Given the description of an element on the screen output the (x, y) to click on. 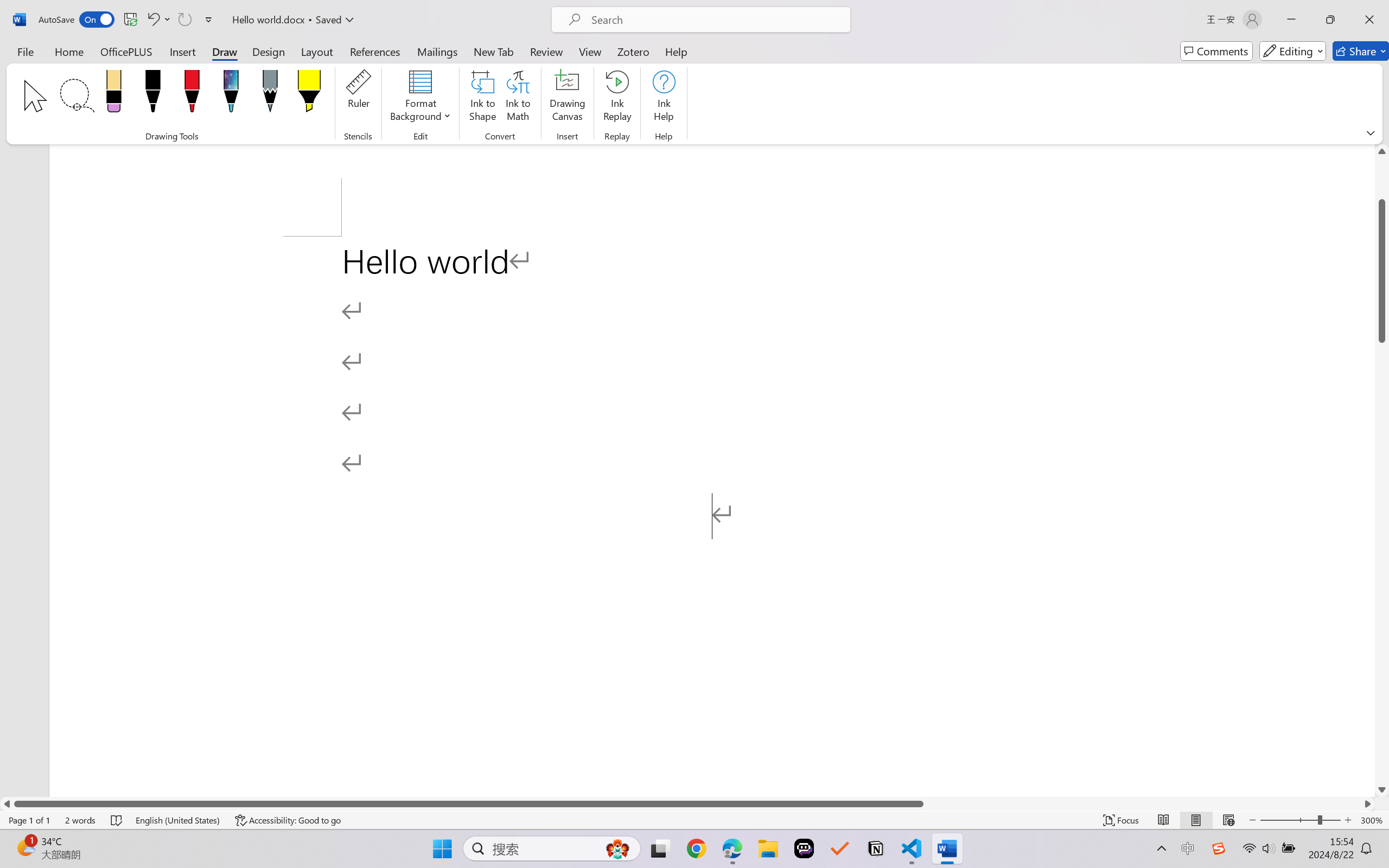
New Tab (493, 51)
View (589, 51)
Language English (United States) (178, 819)
Draw (224, 51)
Page up (1382, 177)
Can't Repeat (184, 19)
Pen: Black, 0.5 mm (152, 94)
Comments (1216, 50)
Pen: Red, 0.5 mm (191, 94)
Zoom 300% (1372, 819)
Read Mode (1163, 819)
Spelling and Grammar Check No Errors (117, 819)
Undo Click and Type Formatting (158, 19)
AutomationID: BadgeAnchorLargeTicker (24, 847)
